Given the description of an element on the screen output the (x, y) to click on. 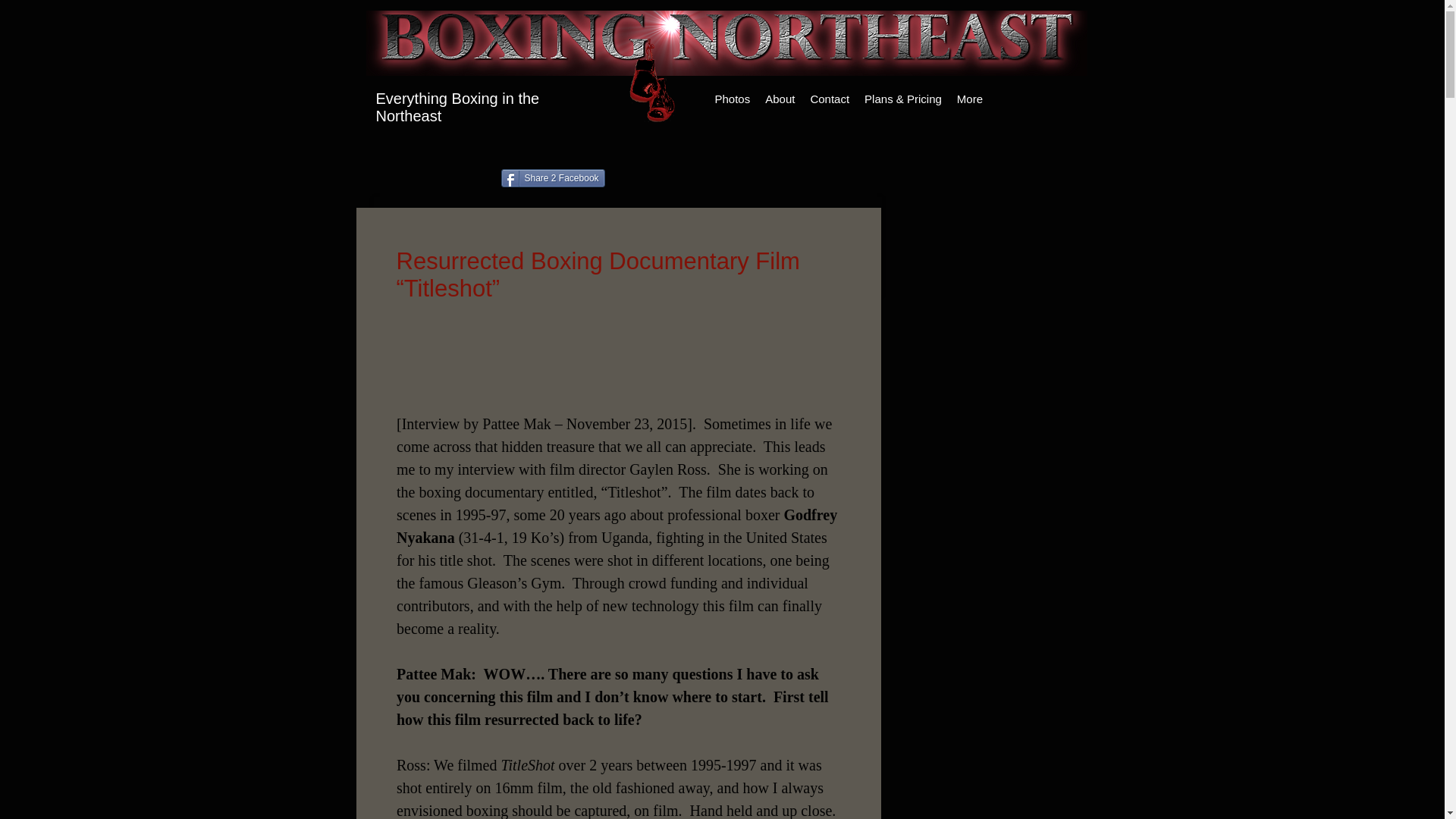
Contact (829, 99)
Twitter Tweet (700, 180)
Facebook Like (394, 180)
Share (853, 217)
Photos (731, 99)
Logo.png (651, 80)
Share (853, 217)
Share 2 Facebook (552, 177)
boxing2.png (725, 43)
About (779, 99)
